Given the description of an element on the screen output the (x, y) to click on. 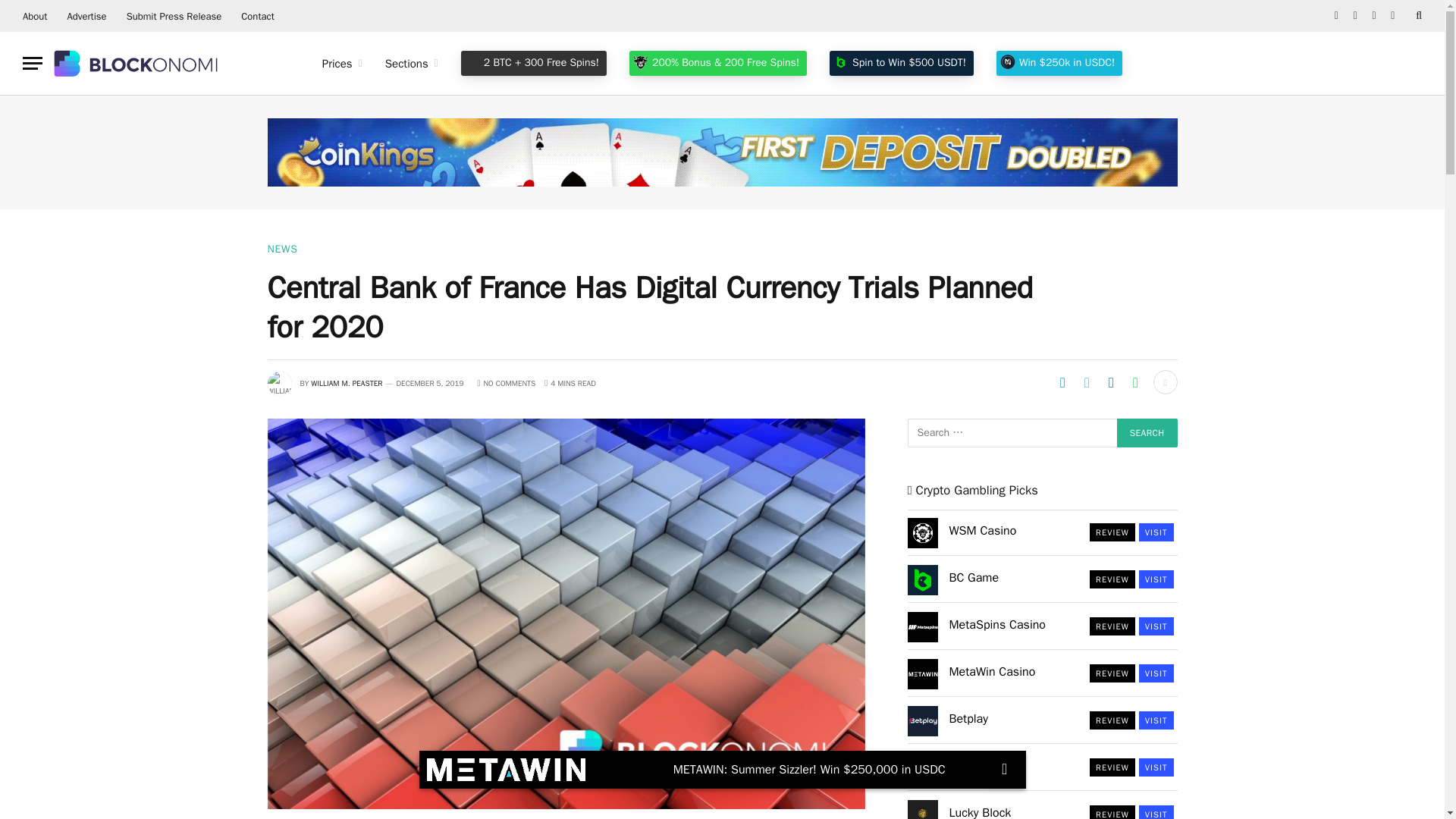
Posts by William M. Peaster (346, 383)
Blockonomi (137, 62)
Search (1146, 432)
Contact (257, 15)
Search (1146, 432)
Prices (342, 63)
Advertise (86, 15)
Sections (411, 63)
Share on WhatsApp (1135, 381)
